Given the description of an element on the screen output the (x, y) to click on. 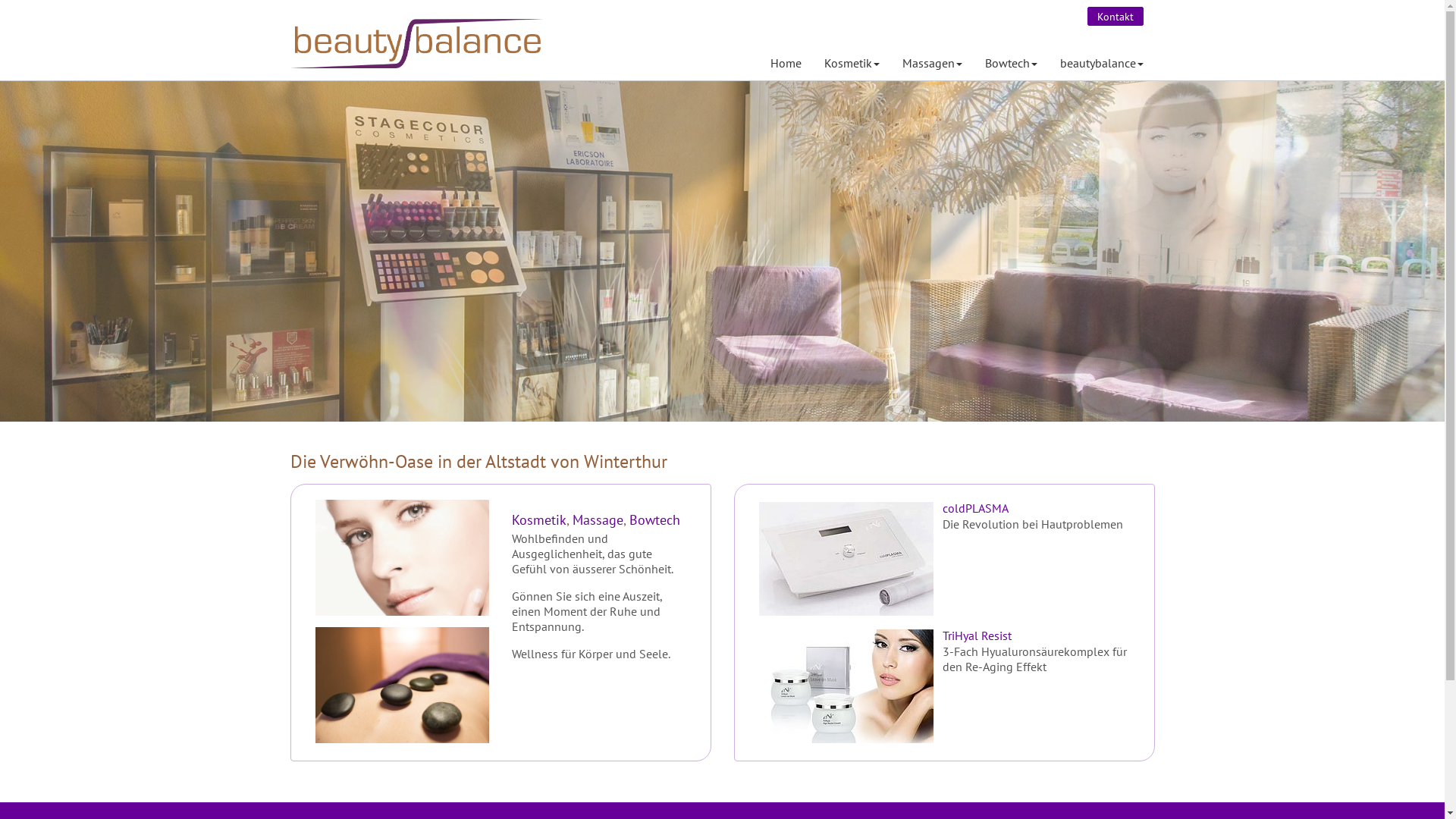
coldPLASMA Element type: hover (845, 558)
beautybalance Element type: hover (415, 22)
Kontakt Element type: text (1115, 15)
TriHyal Resist Element type: hover (845, 686)
Kosmetik Element type: text (538, 519)
Kosmetik Element type: text (851, 62)
TriHyal Resist Element type: text (975, 635)
Massagen Element type: text (931, 62)
Home Element type: text (785, 62)
beautybalance Element type: text (1101, 62)
Massage Element type: text (597, 519)
coldPLASMA Element type: text (974, 507)
Bowtech Element type: text (1010, 62)
Bowtech Element type: text (654, 519)
